Given the description of an element on the screen output the (x, y) to click on. 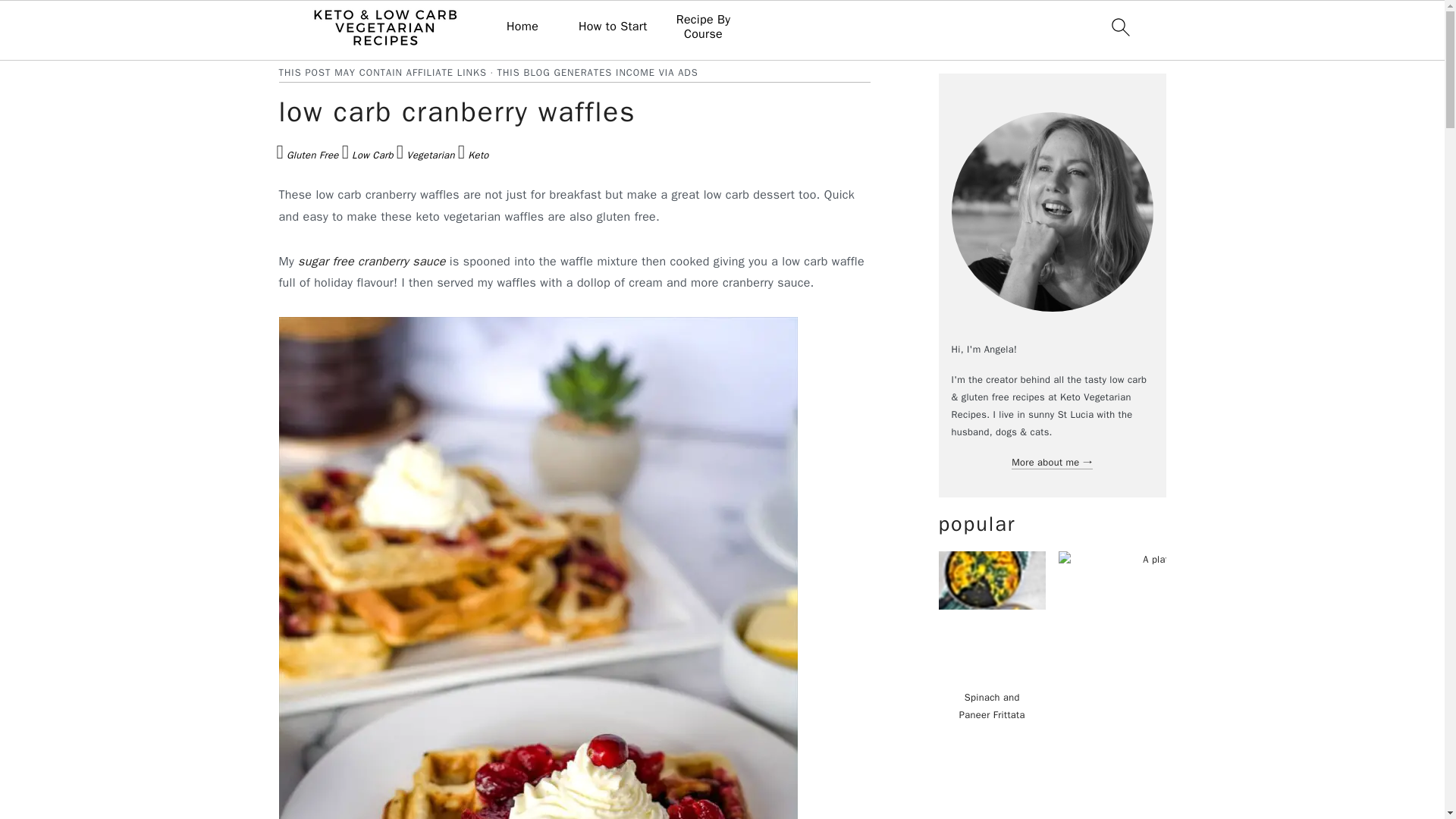
Vegetarian (425, 156)
Keto (473, 156)
search icon (1119, 26)
Gluten Free (307, 156)
Low Carb (367, 156)
